Given the description of an element on the screen output the (x, y) to click on. 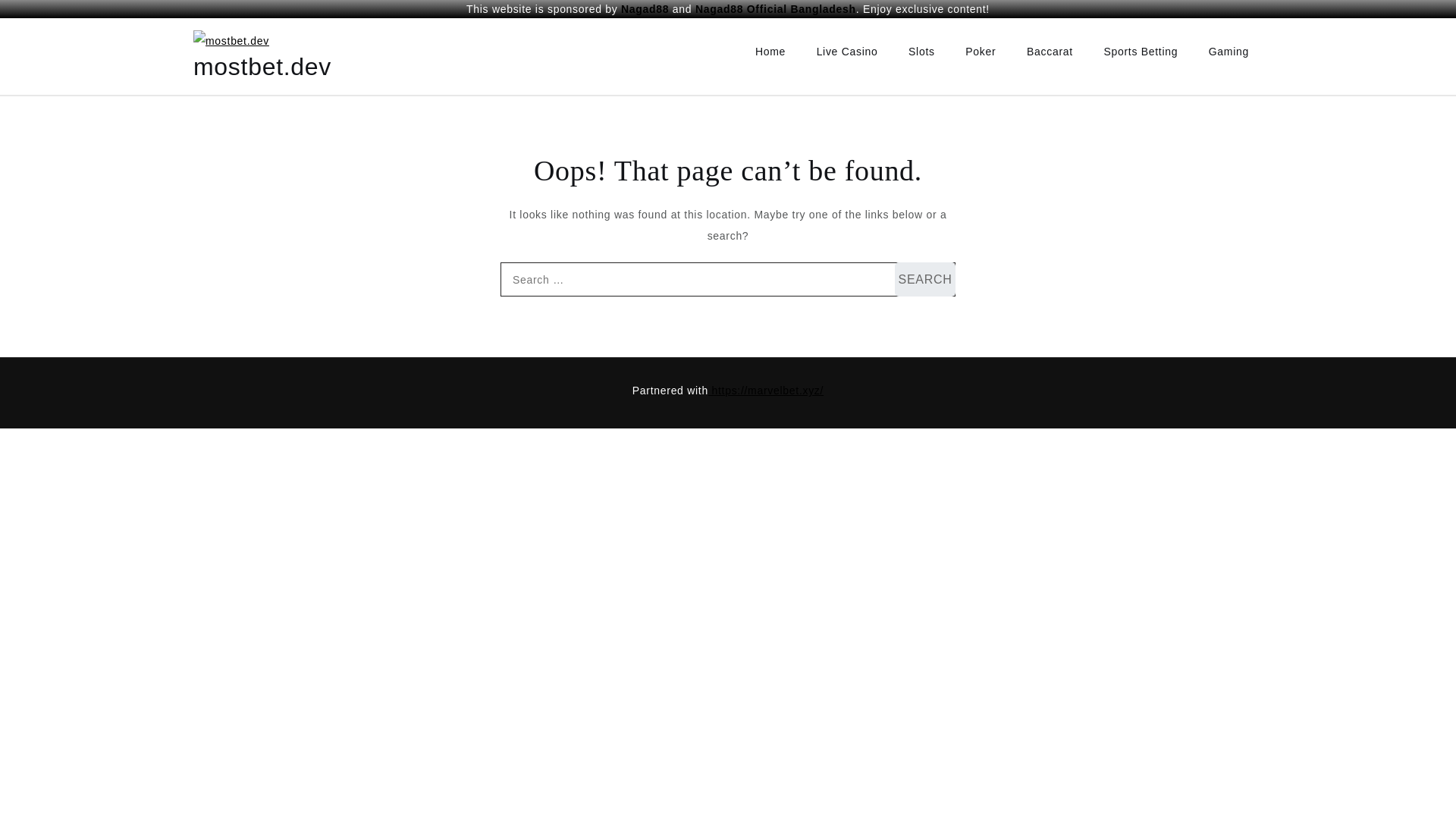
Search (925, 279)
Nagad88 (644, 9)
Nagad88 Official Bangladesh (775, 9)
mostbet.dev (262, 66)
Poker (980, 51)
Live Casino (847, 51)
Sports Betting (1140, 51)
Baccarat (1049, 51)
Slots (922, 51)
Home (770, 51)
